Given the description of an element on the screen output the (x, y) to click on. 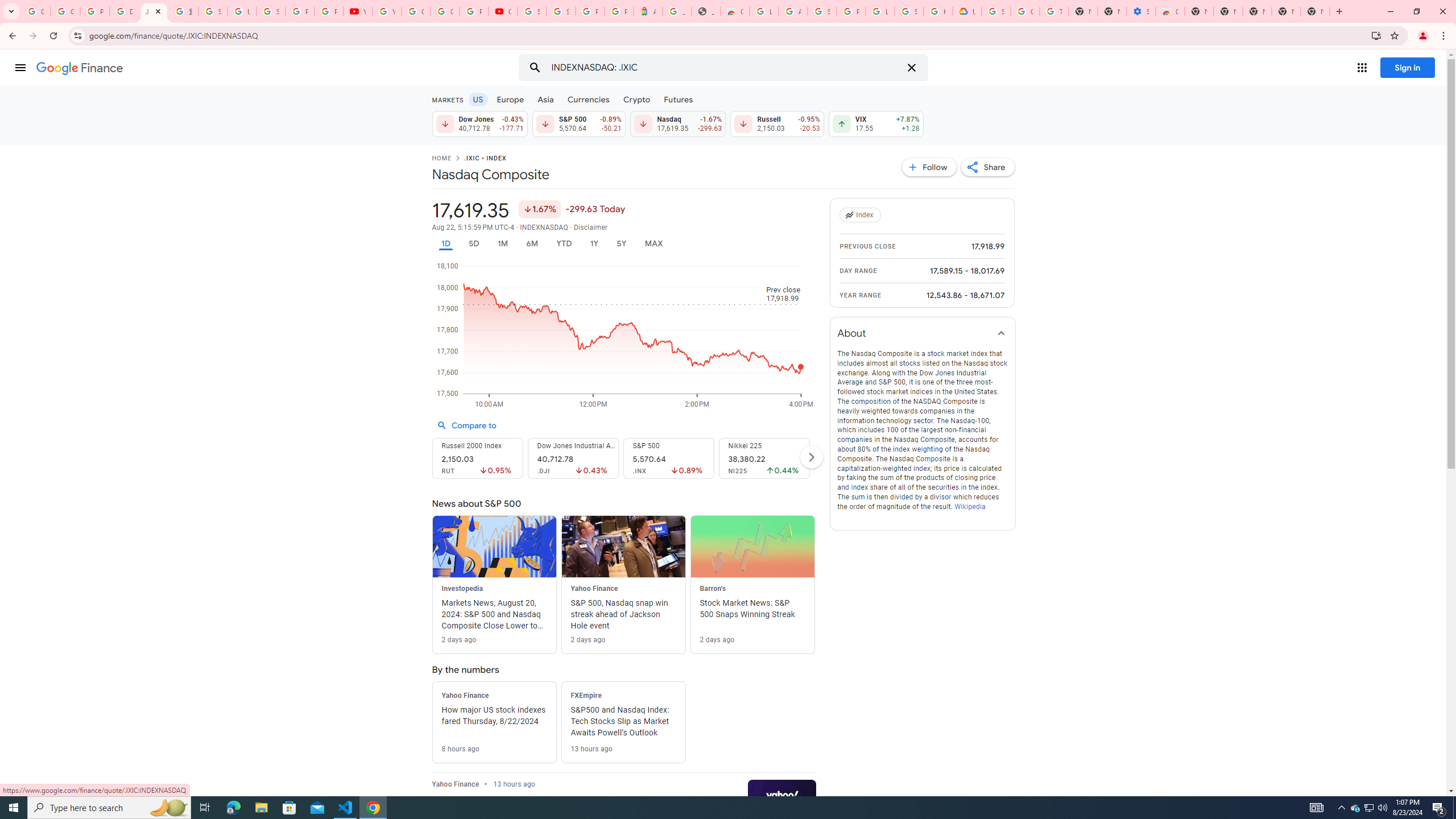
About (923, 332)
Russell 2,150.03 Down by 0.95% -20.53 (777, 123)
Google Account Help (415, 11)
Chrome Web Store - Accessibility extensions (1169, 11)
Crypto (636, 99)
Privacy Checkup (327, 11)
YTD (563, 243)
New Tab (1315, 11)
Follow (929, 167)
Address and search bar (726, 35)
